Given the description of an element on the screen output the (x, y) to click on. 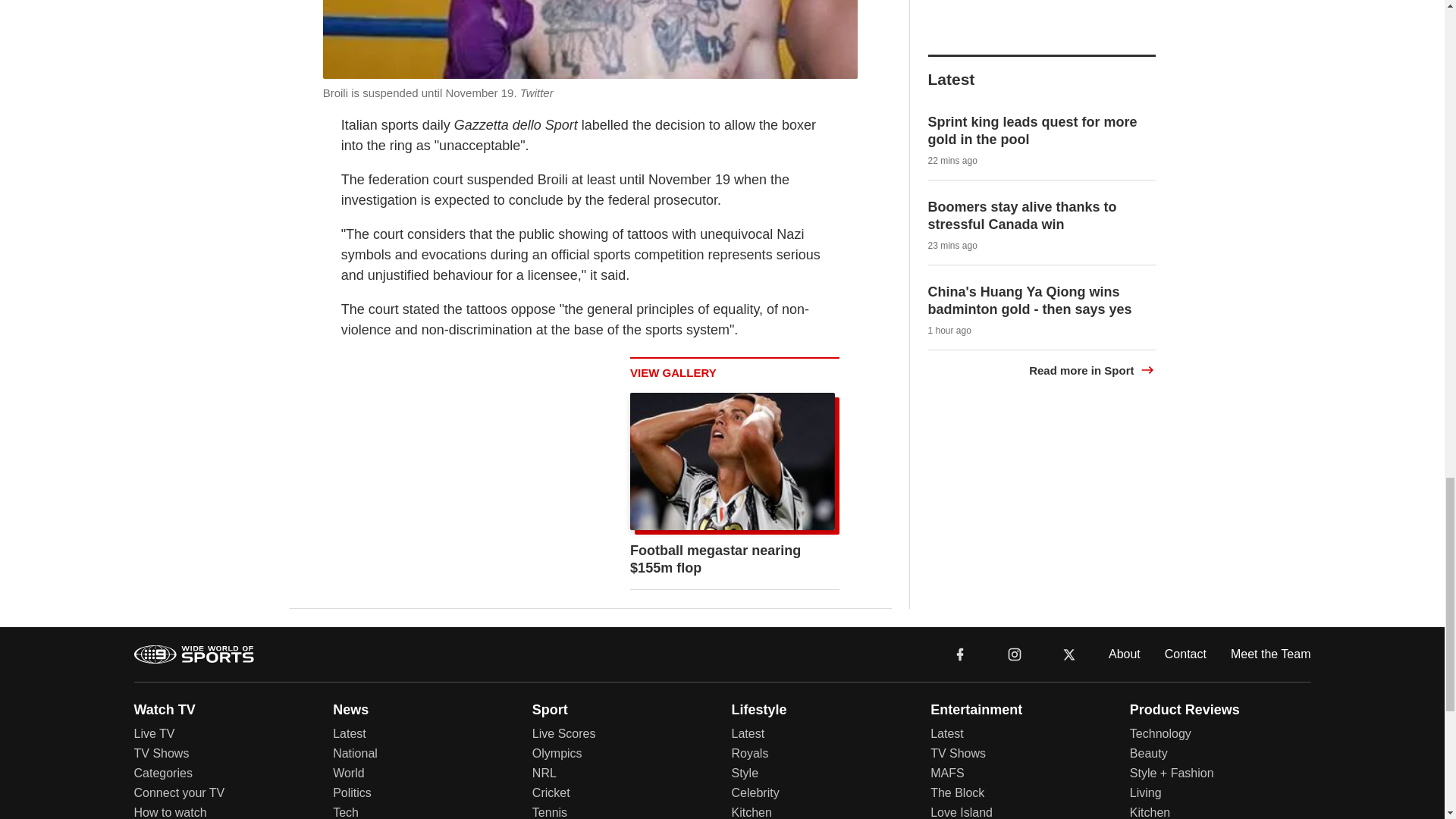
x (1069, 653)
TV Shows (161, 753)
Watch TV (164, 709)
x (1069, 653)
Categories (162, 772)
instagram (1014, 654)
facebook (960, 654)
facebook (959, 653)
Meet the Team (1270, 653)
facebook (959, 653)
Contact (1185, 653)
Live TV (153, 733)
x (1069, 654)
instagram (1013, 653)
About (1124, 653)
